Given the description of an element on the screen output the (x, y) to click on. 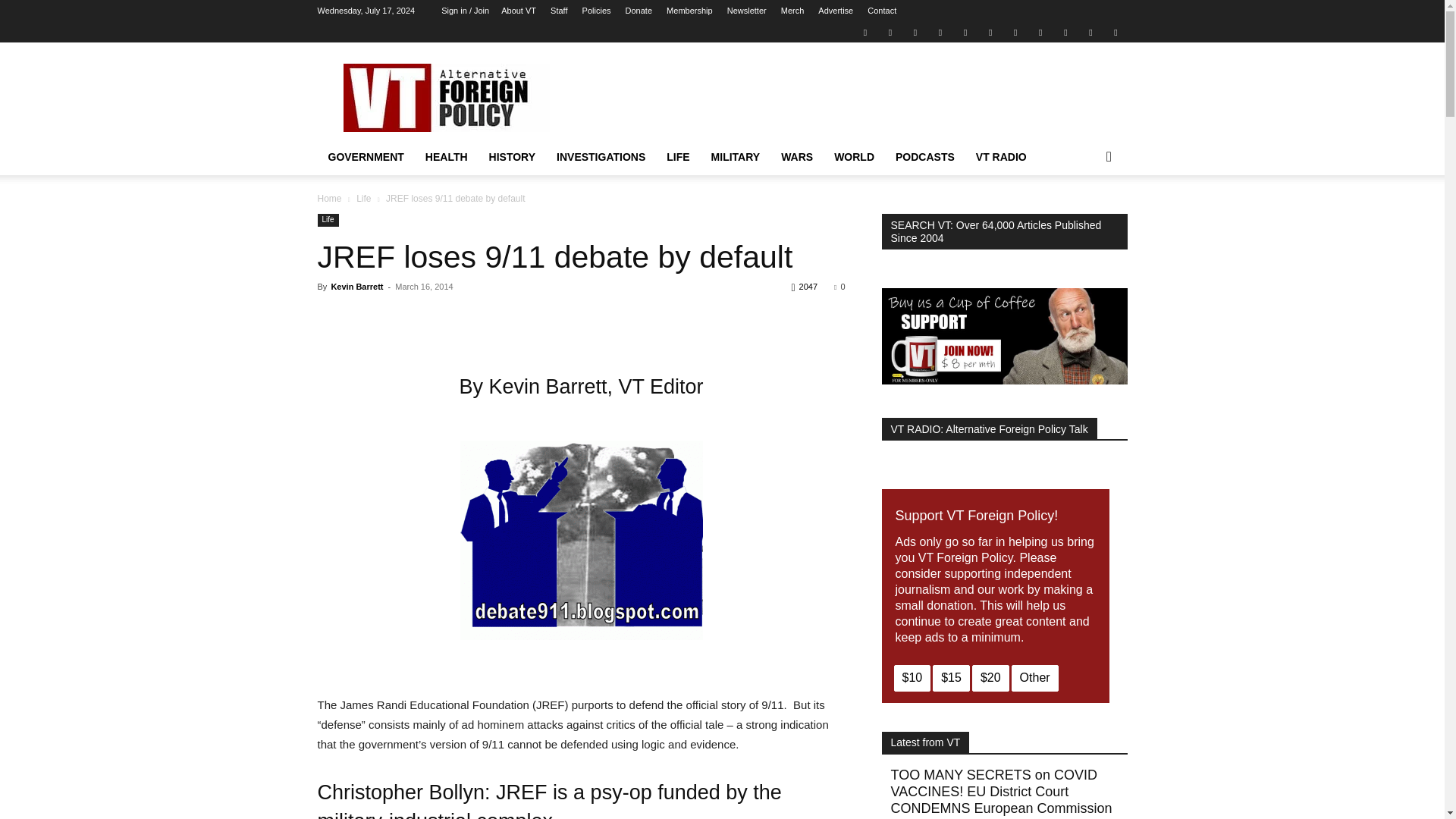
Facebook (890, 31)
Blogger (864, 31)
Donate (639, 10)
Newsletter (746, 10)
Merch (792, 10)
Membership (689, 10)
Advertise (835, 10)
Contact (881, 10)
Mail (915, 31)
Staff (558, 10)
Policies (596, 10)
About VT (517, 10)
Reddit (940, 31)
Rumble (964, 31)
